Given the description of an element on the screen output the (x, y) to click on. 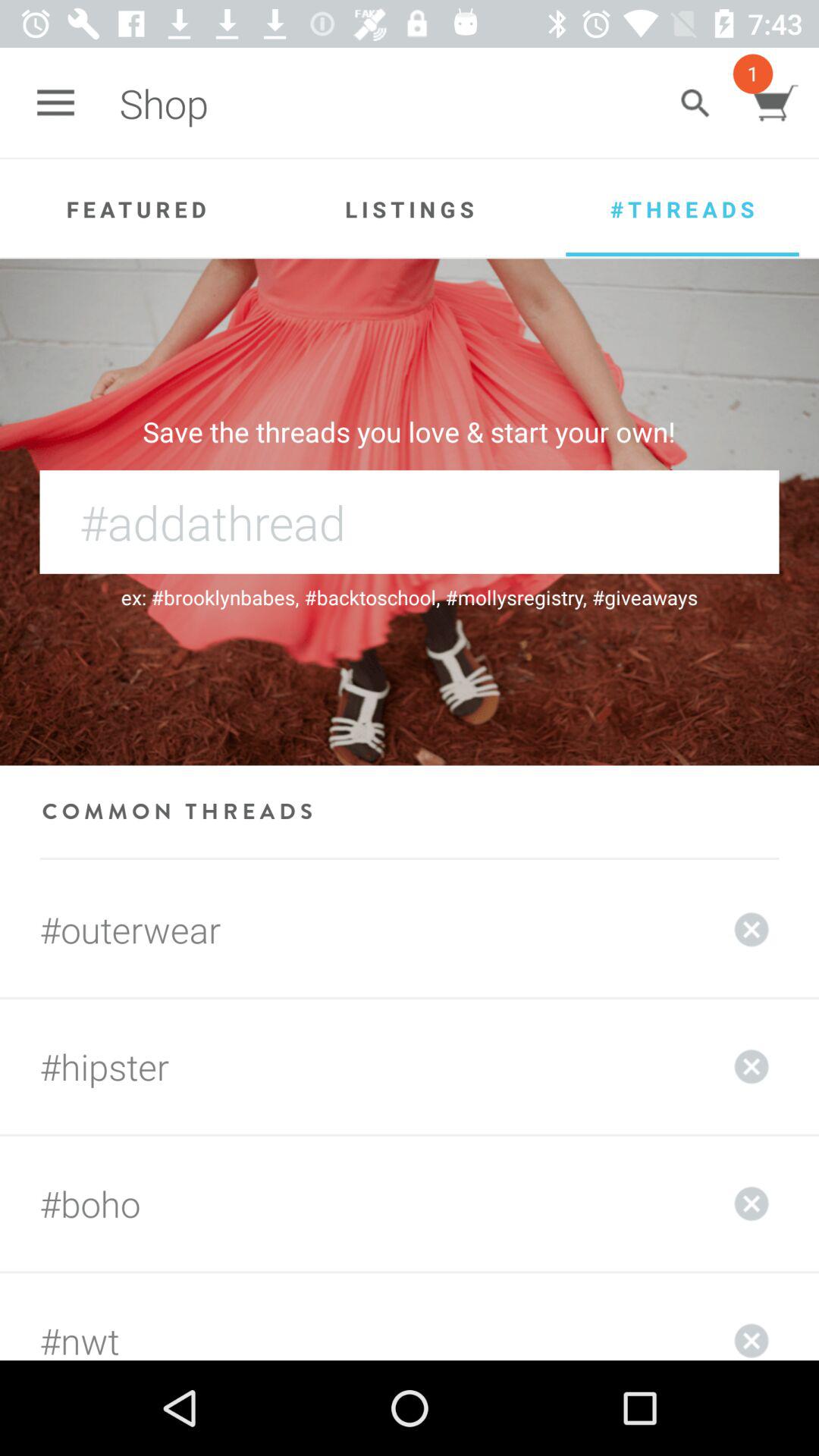
search (695, 103)
